Given the description of an element on the screen output the (x, y) to click on. 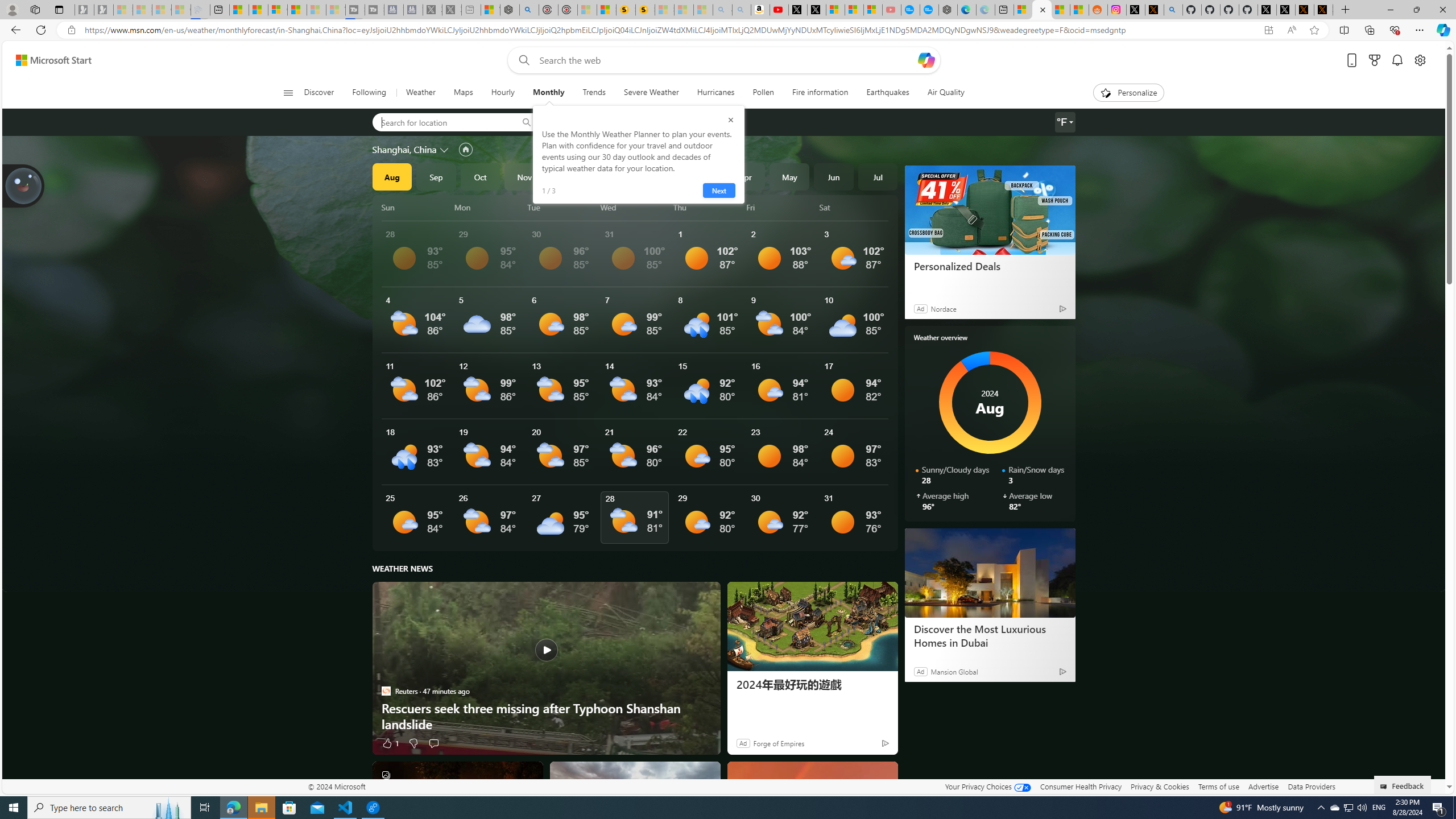
See More Details (853, 517)
Sep (435, 176)
Day 1: Arriving in Yemen (surreal to be here) - YouTube (778, 9)
Microsoft Start - Sleeping (315, 9)
Consumer Health Privacy (1080, 786)
2025 Jan (612, 176)
Class: feedback_link_icon-DS-EntryPoint1-1 (1384, 786)
Rescuers seek three missing after Typhoon Shanshan landslide (546, 716)
